Given the description of an element on the screen output the (x, y) to click on. 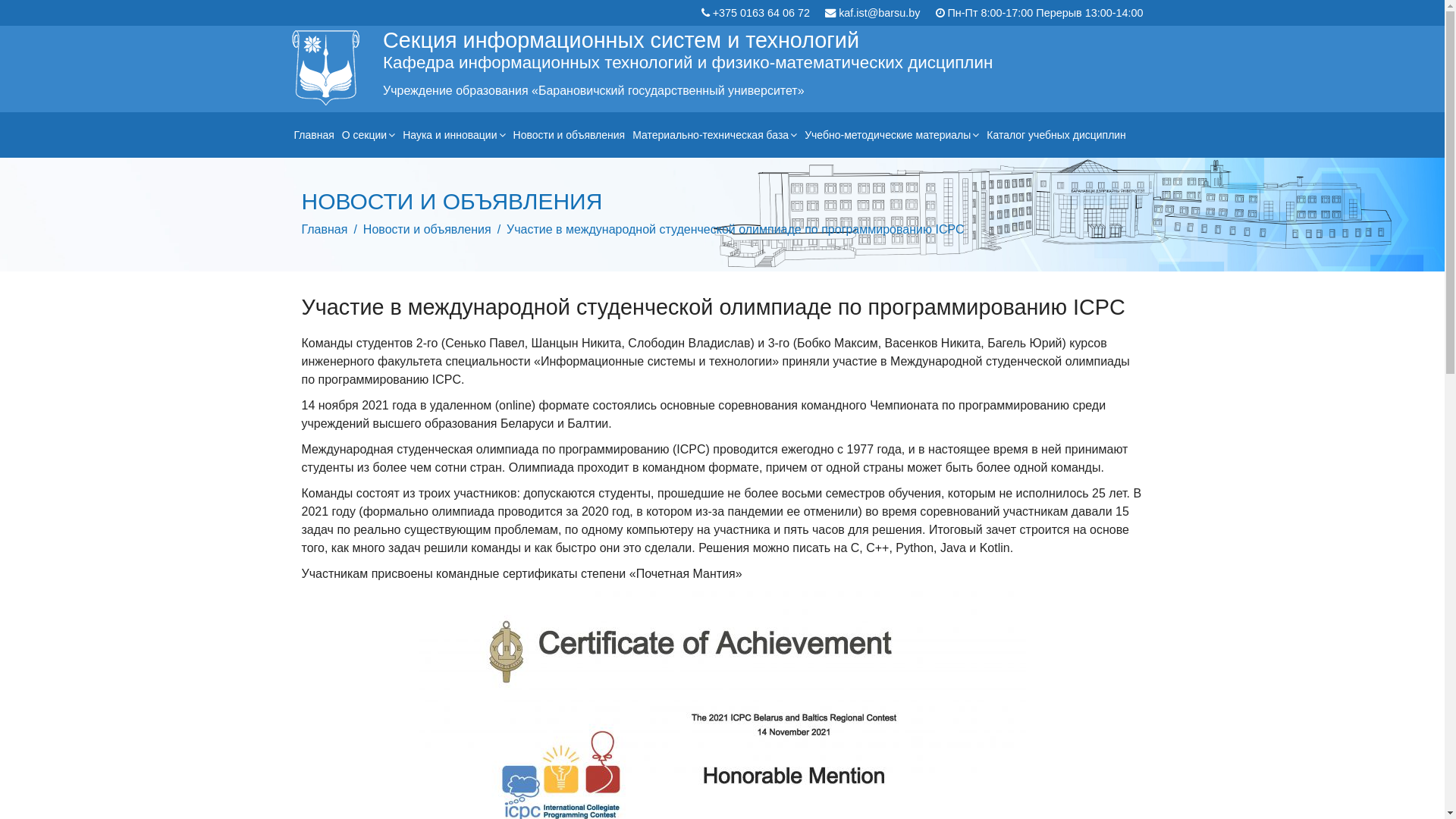
kaf.ist@barsu.by Element type: text (878, 12)
+375 0163 64 06 72 Element type: text (760, 12)
